Given the description of an element on the screen output the (x, y) to click on. 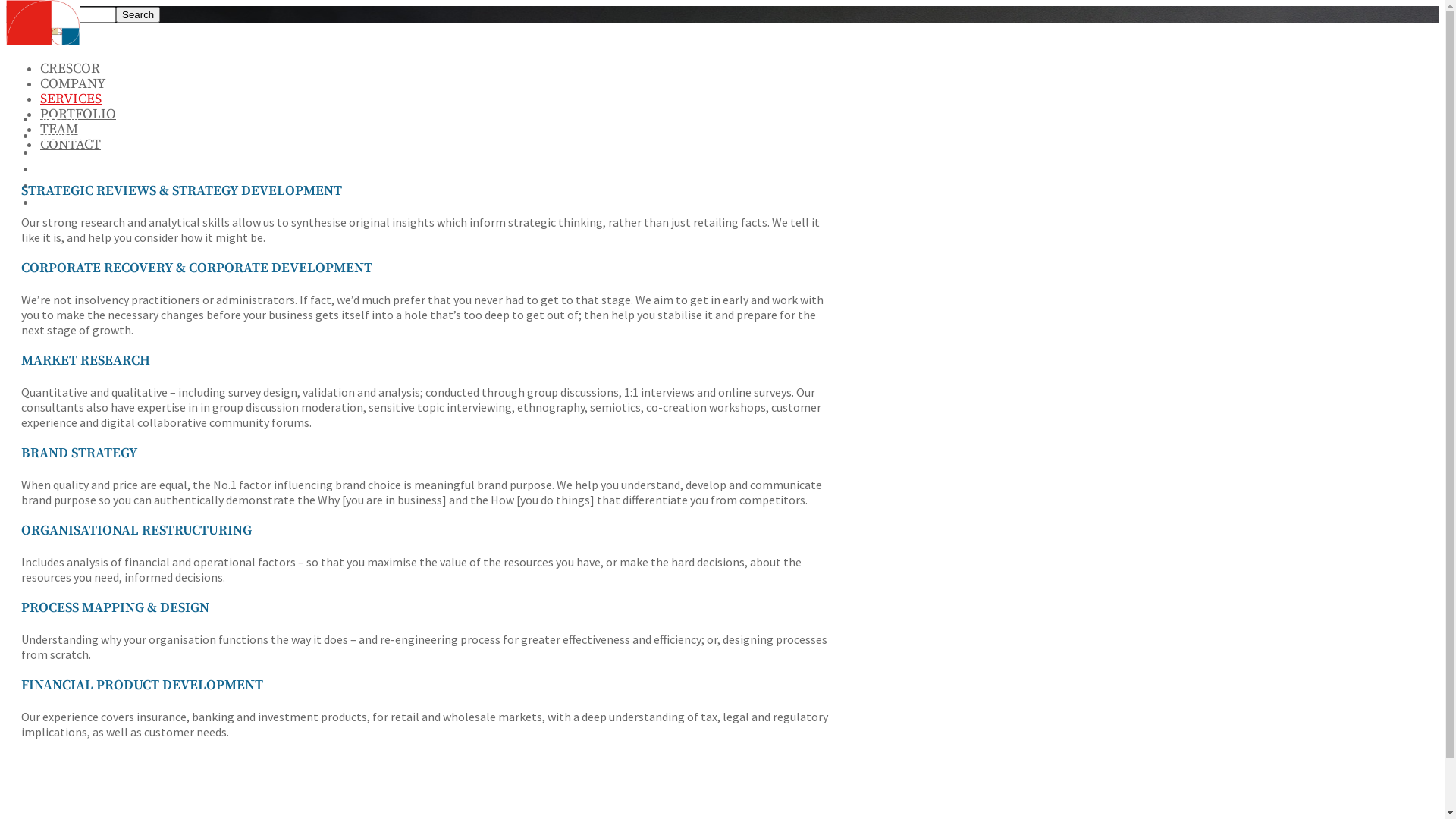
TEAM Element type: text (49, 185)
CONTACT Element type: text (70, 144)
TEAM Element type: text (59, 129)
CRESCOR Element type: text (70, 68)
SERVICES Element type: text (70, 98)
SERVICES Element type: text (57, 152)
COMPANY Element type: text (72, 83)
CONTACT Element type: text (59, 202)
PORTFOLIO Element type: text (78, 113)
COMPANY Element type: text (58, 135)
CRESCOR Element type: text (57, 119)
Search Element type: text (138, 14)
PORTFOLIO Element type: text (63, 169)
